Given the description of an element on the screen output the (x, y) to click on. 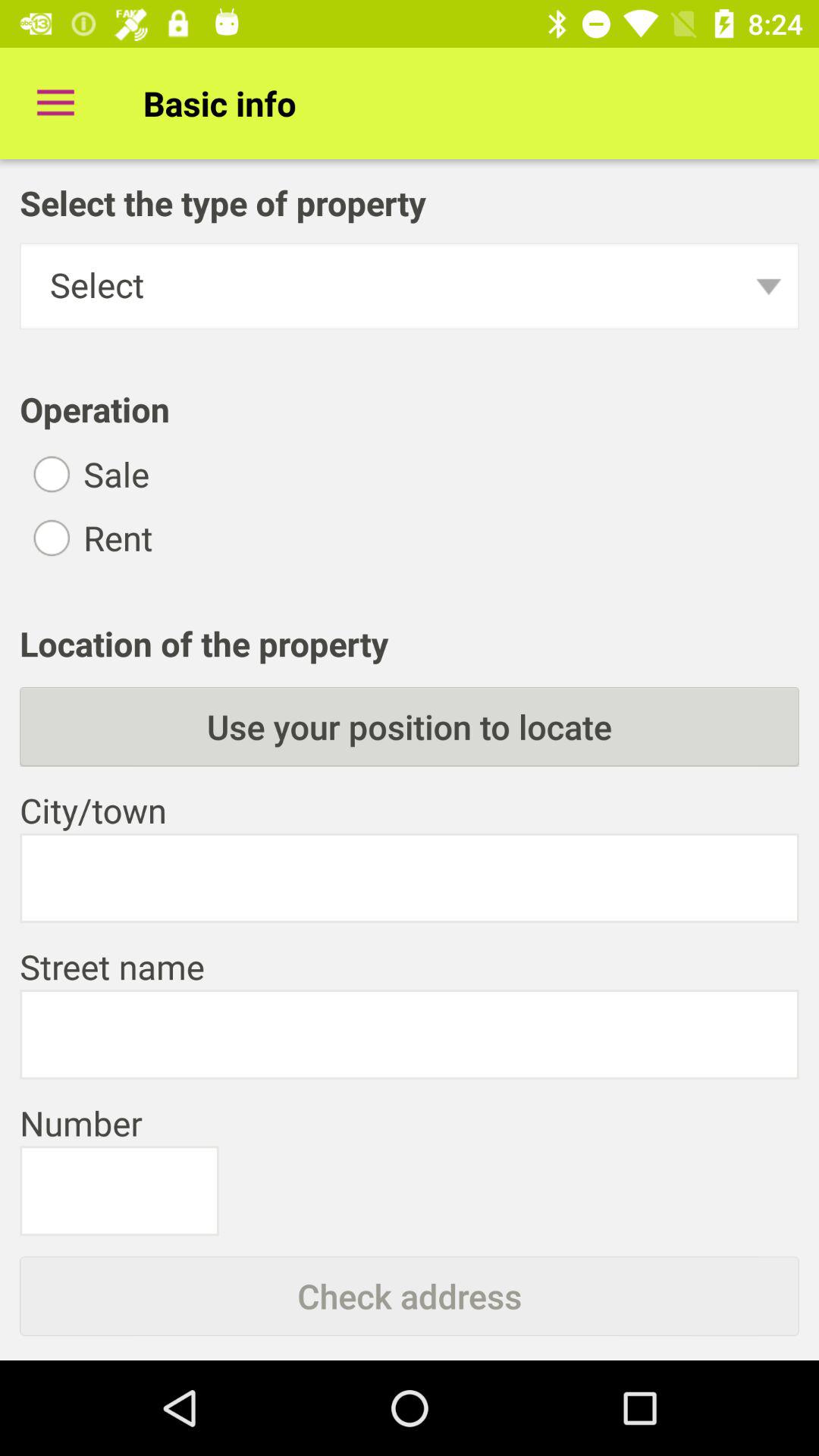
input city or town (409, 878)
